Given the description of an element on the screen output the (x, y) to click on. 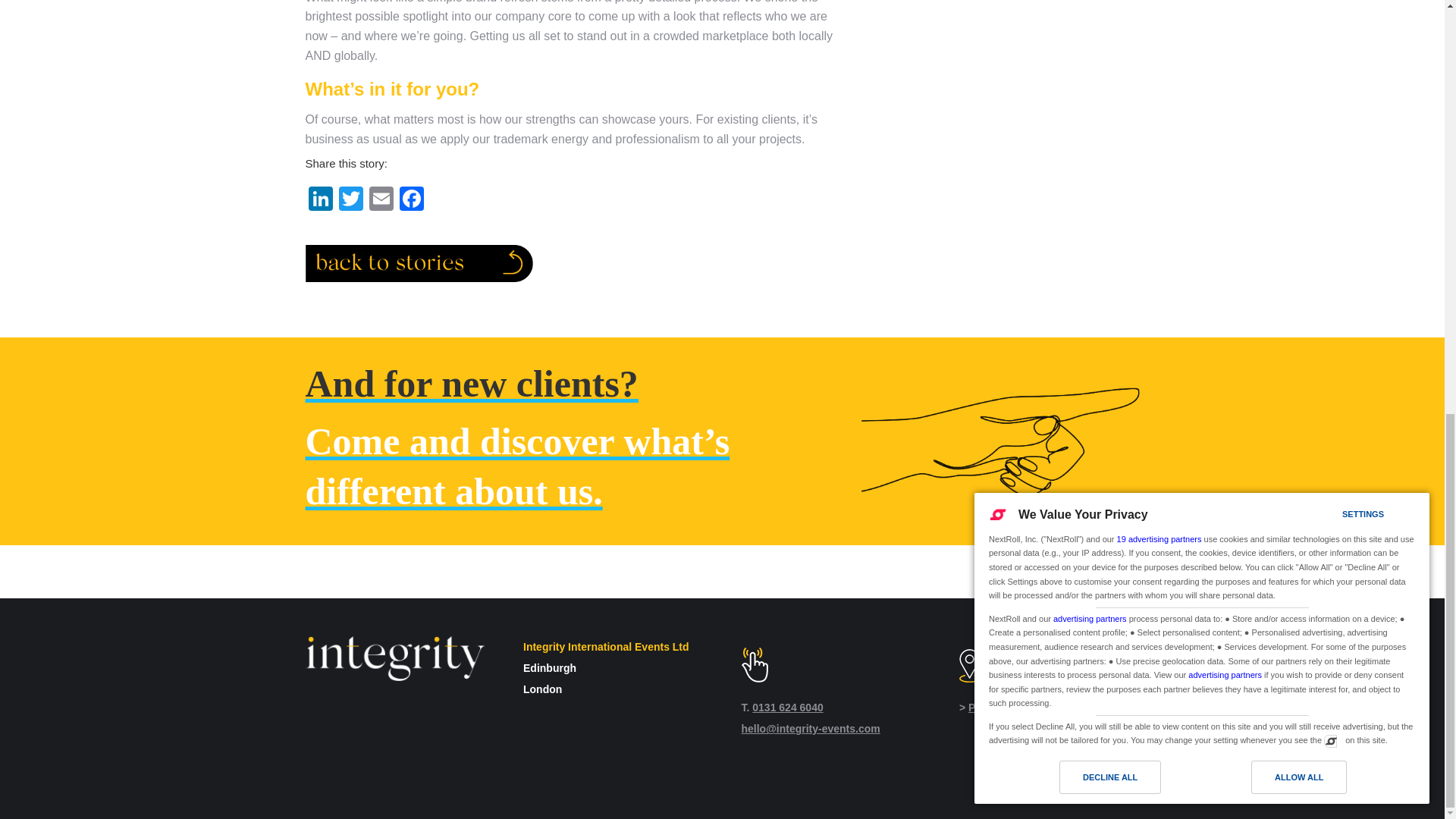
Twitter (349, 200)
Facebook (411, 200)
Facebook (411, 200)
LinkedIn (319, 200)
Email (380, 200)
Email (380, 200)
LinkedIn (319, 200)
0131 624 6040 (787, 707)
Privacy policy (1003, 707)
Twitter (349, 200)
